Given the description of an element on the screen output the (x, y) to click on. 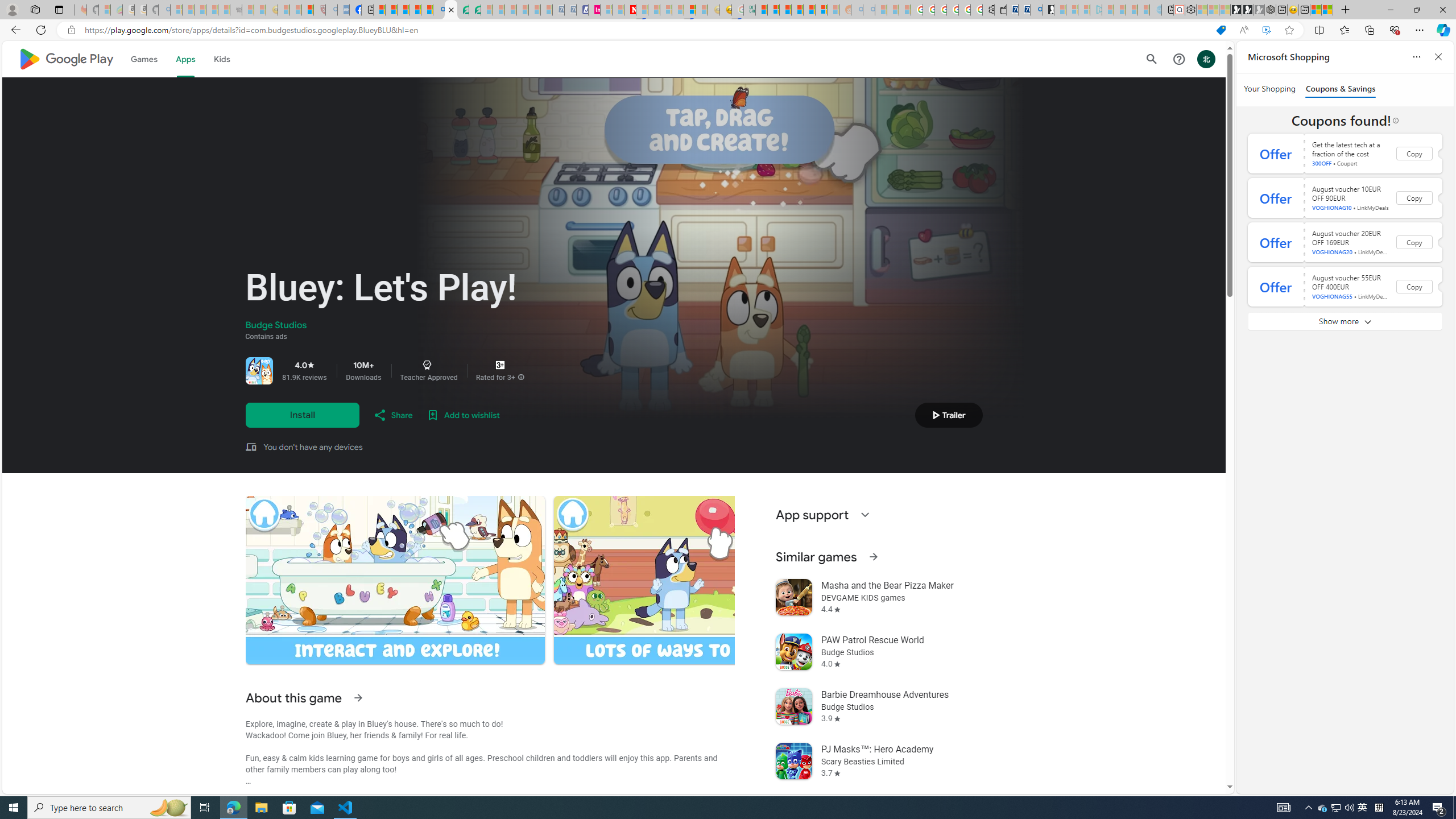
Games (142, 58)
google - Search (438, 9)
Home | Sky Blue Bikes - Sky Blue Bikes - Sleeping (1155, 9)
Local - MSN (307, 9)
Microsoft Start Gaming (1047, 9)
Add to wishlist (462, 414)
Kinda Frugal - MSN (808, 9)
Budge Studios (275, 324)
Combat Siege (236, 9)
